Given the description of an element on the screen output the (x, y) to click on. 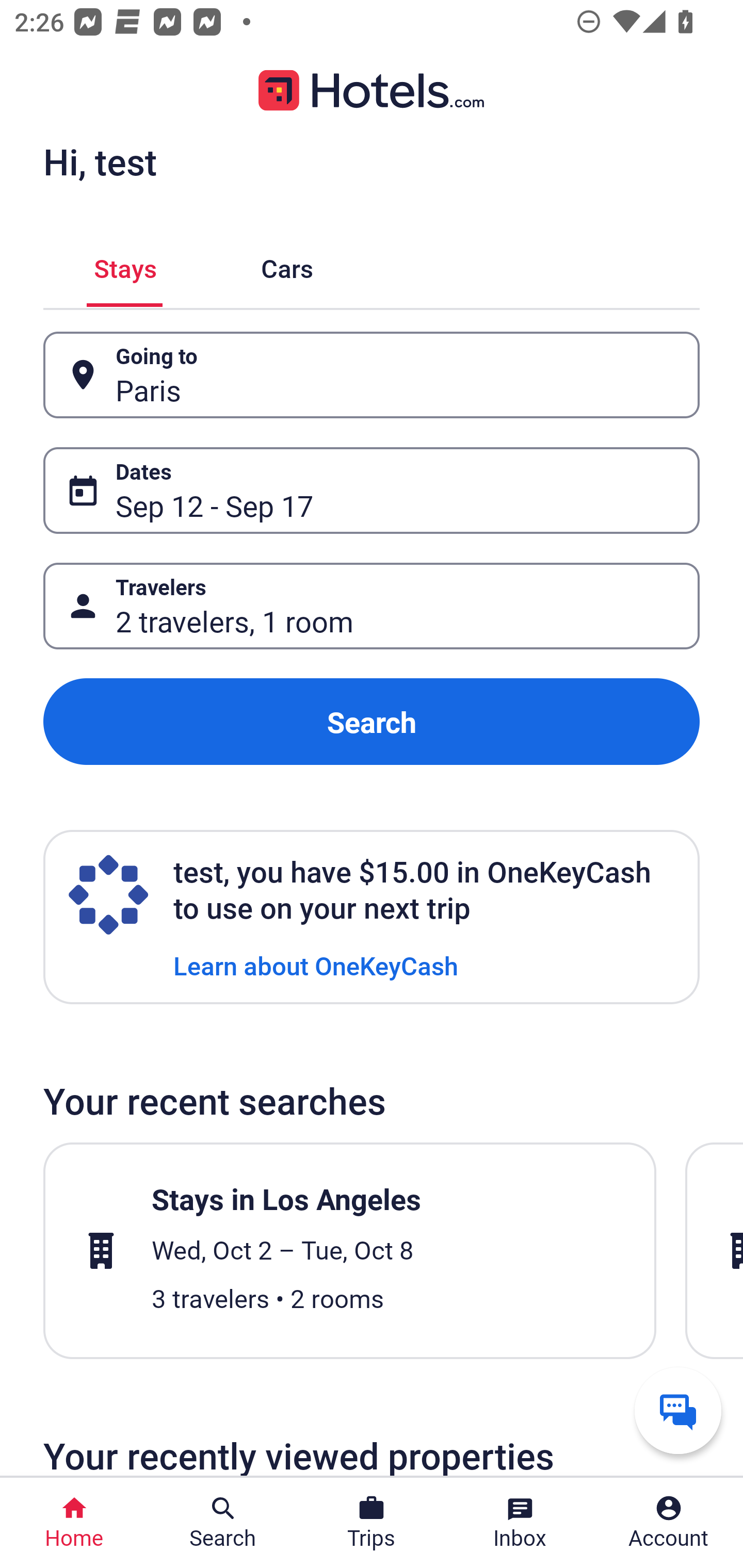
Hi, test (99, 161)
Cars (286, 265)
Going to Button Paris (371, 375)
Dates Button Sep 12 - Sep 17 (371, 489)
Travelers Button 2 travelers, 1 room (371, 605)
Search (371, 721)
Learn about OneKeyCash Learn about OneKeyCash Link (315, 964)
Get help from a virtual agent (677, 1410)
Search Search Button (222, 1522)
Trips Trips Button (371, 1522)
Inbox Inbox Button (519, 1522)
Account Profile. Button (668, 1522)
